Given the description of an element on the screen output the (x, y) to click on. 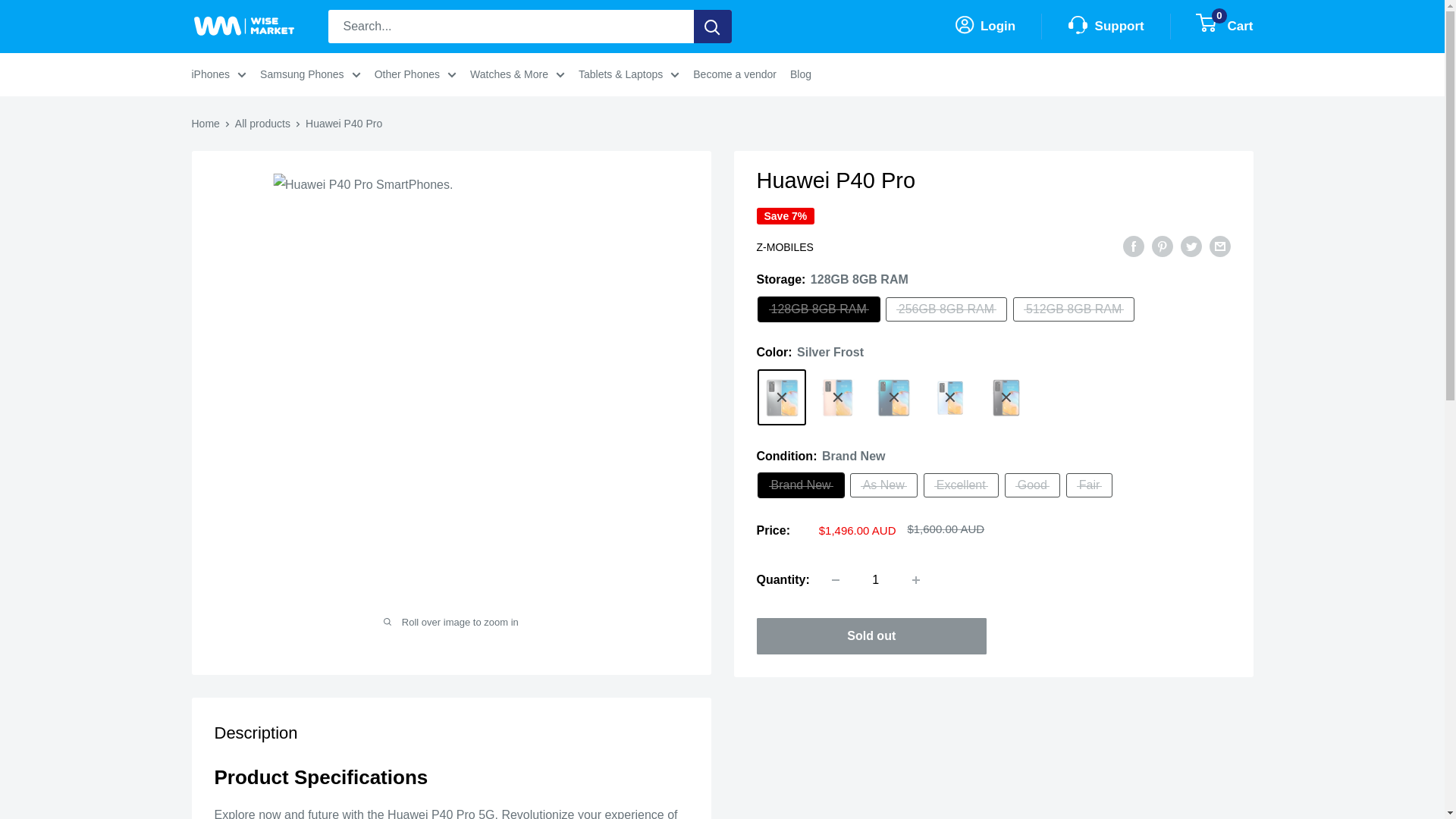
256GB 8GB RAM (946, 309)
Excellent (960, 485)
1 (875, 580)
As New (883, 485)
512GB 8GB RAM (1073, 309)
Decrease quantity by 1 (835, 580)
Good (1031, 485)
Fair (1089, 485)
Increase quantity by 1 (915, 580)
128GB 8GB RAM (818, 309)
